Given the description of an element on the screen output the (x, y) to click on. 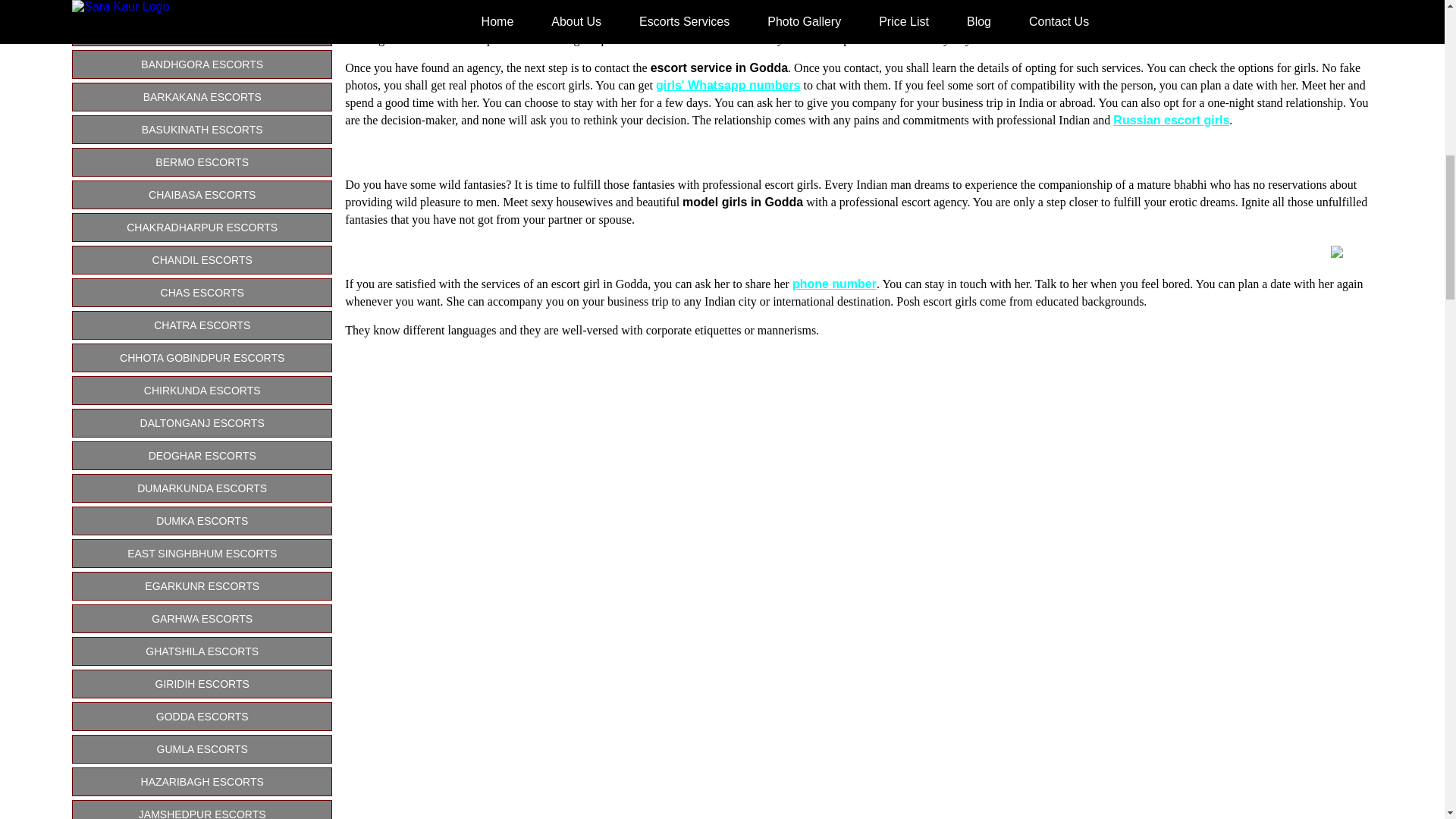
BAGBERA ESCORTS (201, 31)
Russian escort girls (1170, 119)
DUMARKUNDA ESCORTS (201, 488)
DUMKA ESCORTS (201, 520)
GODDA ESCORTS (201, 716)
EAST SINGHBHUM ESCORTS (201, 553)
GHATSHILA ESCORTS (201, 651)
HAZARIBAGH ESCORTS (201, 781)
CHHOTA GOBINDPUR ESCORTS (201, 357)
call girls in Godda (501, 5)
CHIRKUNDA ESCORTS (201, 389)
phone number (834, 283)
CHANDIL ESCORTS (201, 259)
CHAS ESCORTS (201, 292)
EGARKUNR ESCORTS (201, 585)
